Given the description of an element on the screen output the (x, y) to click on. 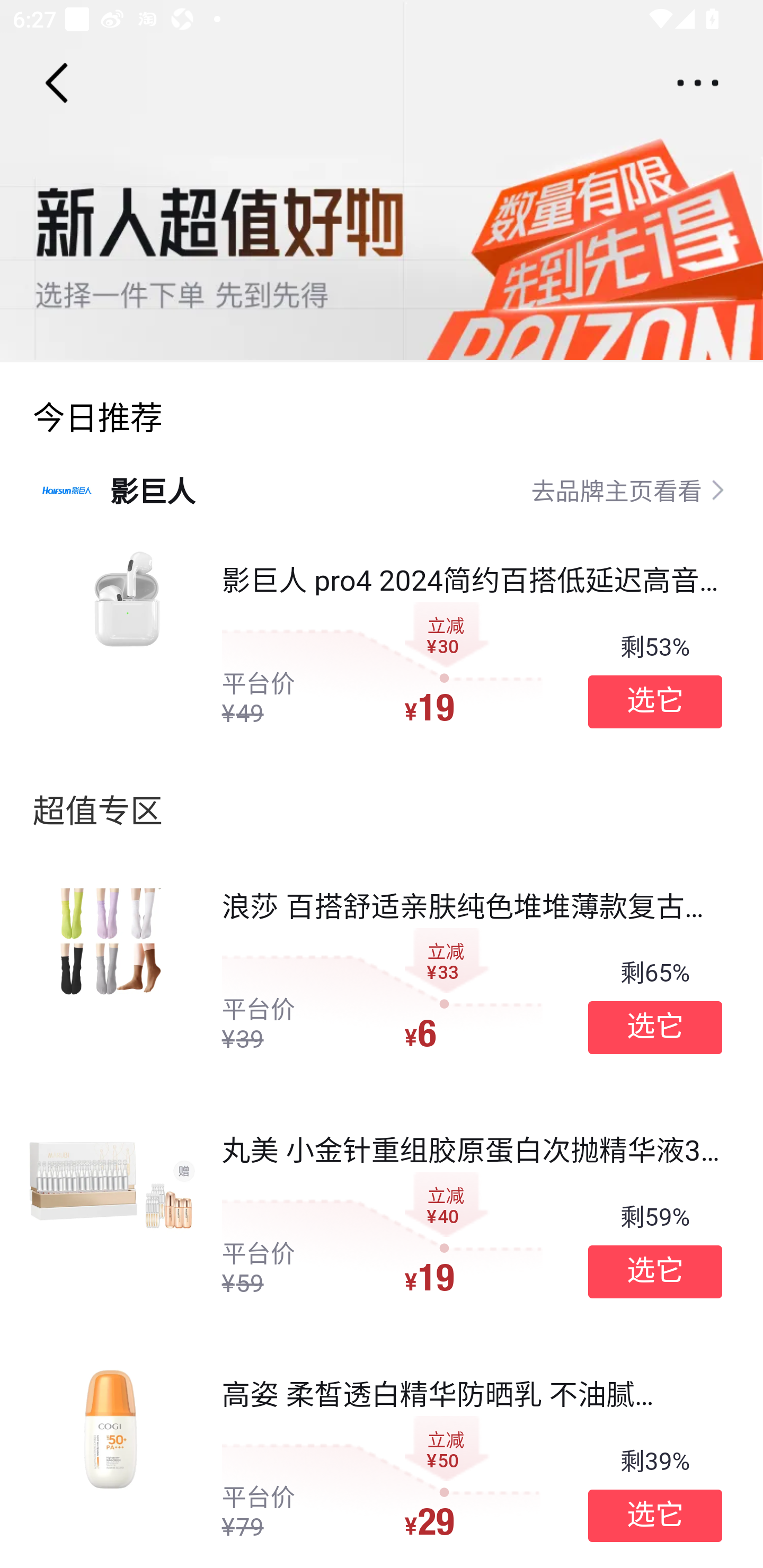
影巨人去品牌主页看看 (381, 489)
选它 (654, 701)
选它 (654, 1027)
选它 (654, 1271)
选它 (654, 1515)
